Given the description of an element on the screen output the (x, y) to click on. 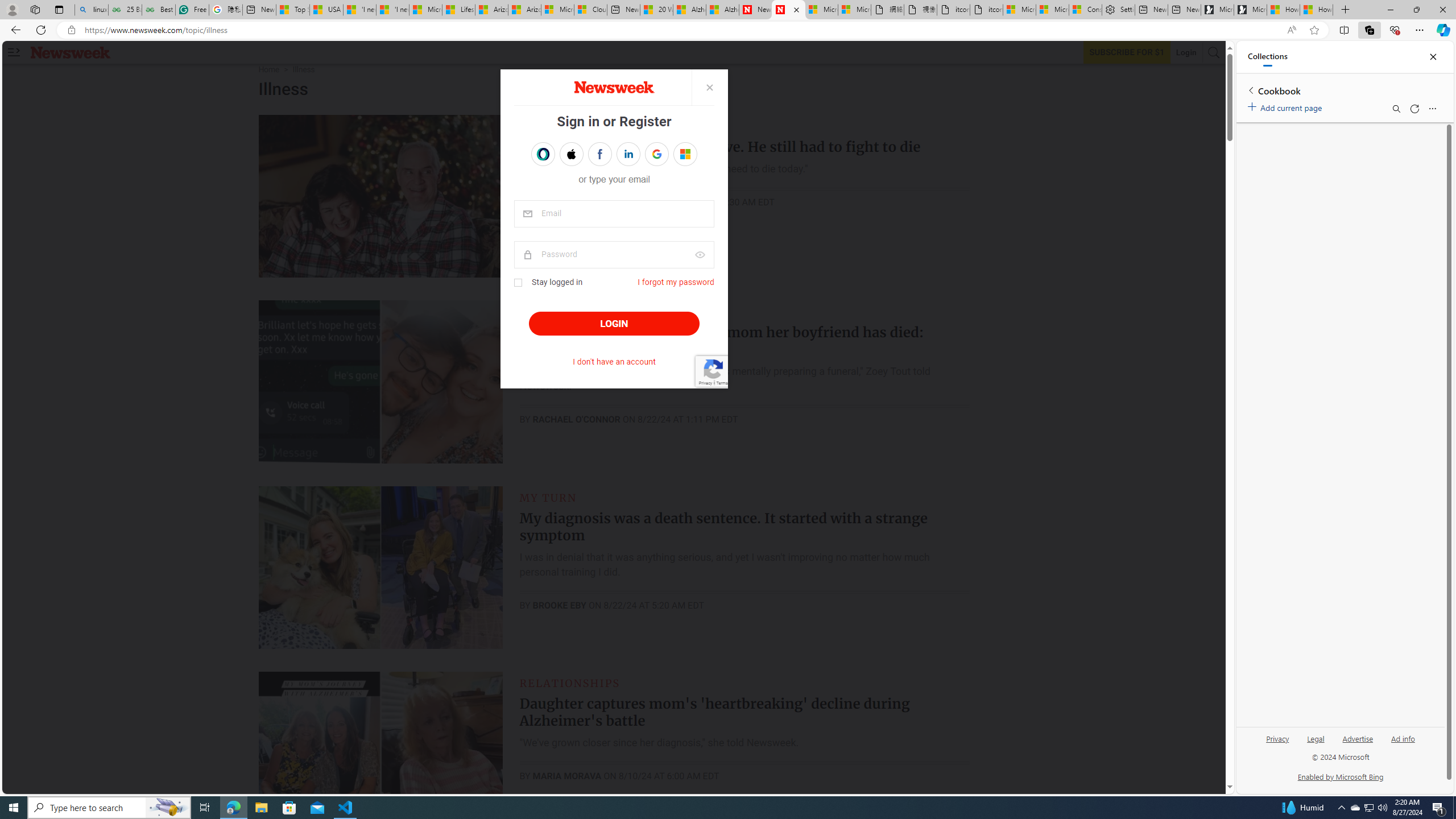
Back to list of collections (1250, 90)
USA TODAY - MSN (325, 9)
RELATIONSHIPS (569, 682)
To get missing image descriptions, open the context menu. (613, 87)
I forgot my password (675, 282)
Advertise (1357, 738)
Newsweek logo (70, 51)
Cloud Computing Services | Microsoft Azure (590, 9)
Legal (1315, 742)
